Given the description of an element on the screen output the (x, y) to click on. 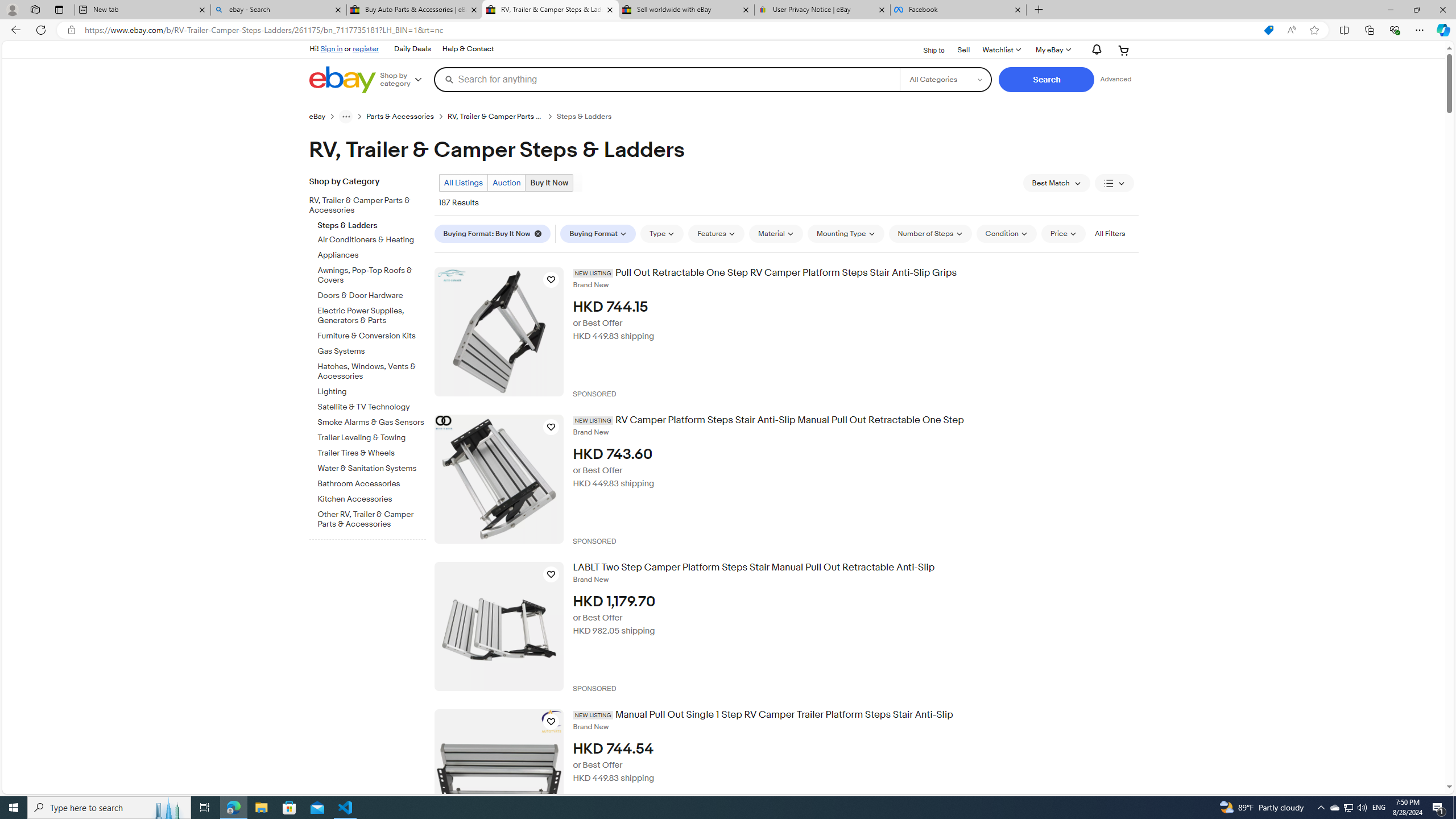
Buy Auto Parts & Accessories | eBay (414, 9)
Appliances (371, 253)
Smoke Alarms & Gas Sensors (371, 422)
AutomationID: gh-eb-Alerts (1094, 49)
Air Conditioners & Heating (371, 240)
Price (1063, 233)
Mounting Type (844, 233)
Appliances (371, 255)
Sell (963, 49)
Number of Steps (930, 233)
